Given the description of an element on the screen output the (x, y) to click on. 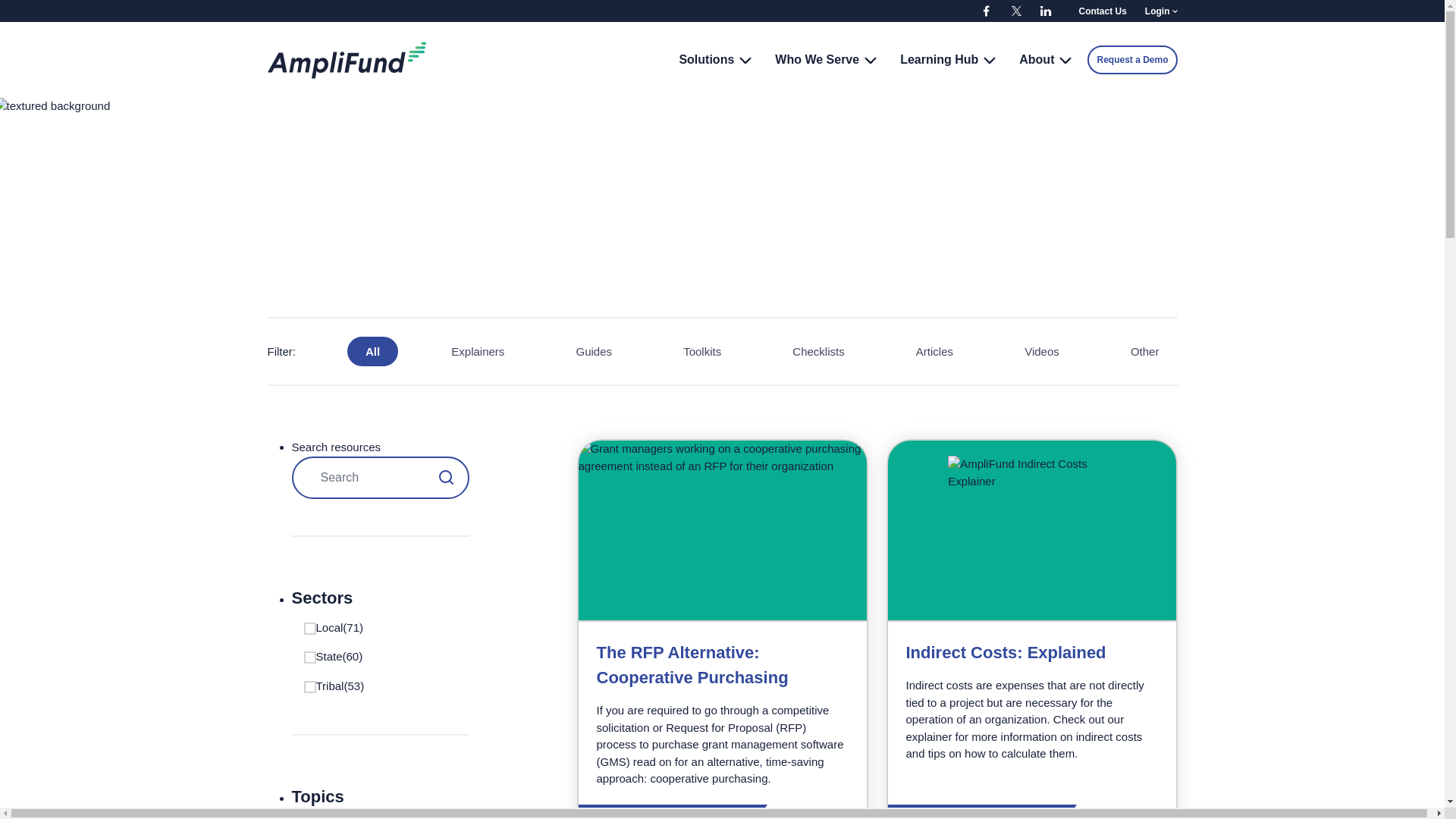
Login (1157, 10)
state (308, 657)
Solutions (715, 60)
Contact Us (1101, 10)
tribal (308, 686)
local (308, 627)
Search resources (379, 477)
